Given the description of an element on the screen output the (x, y) to click on. 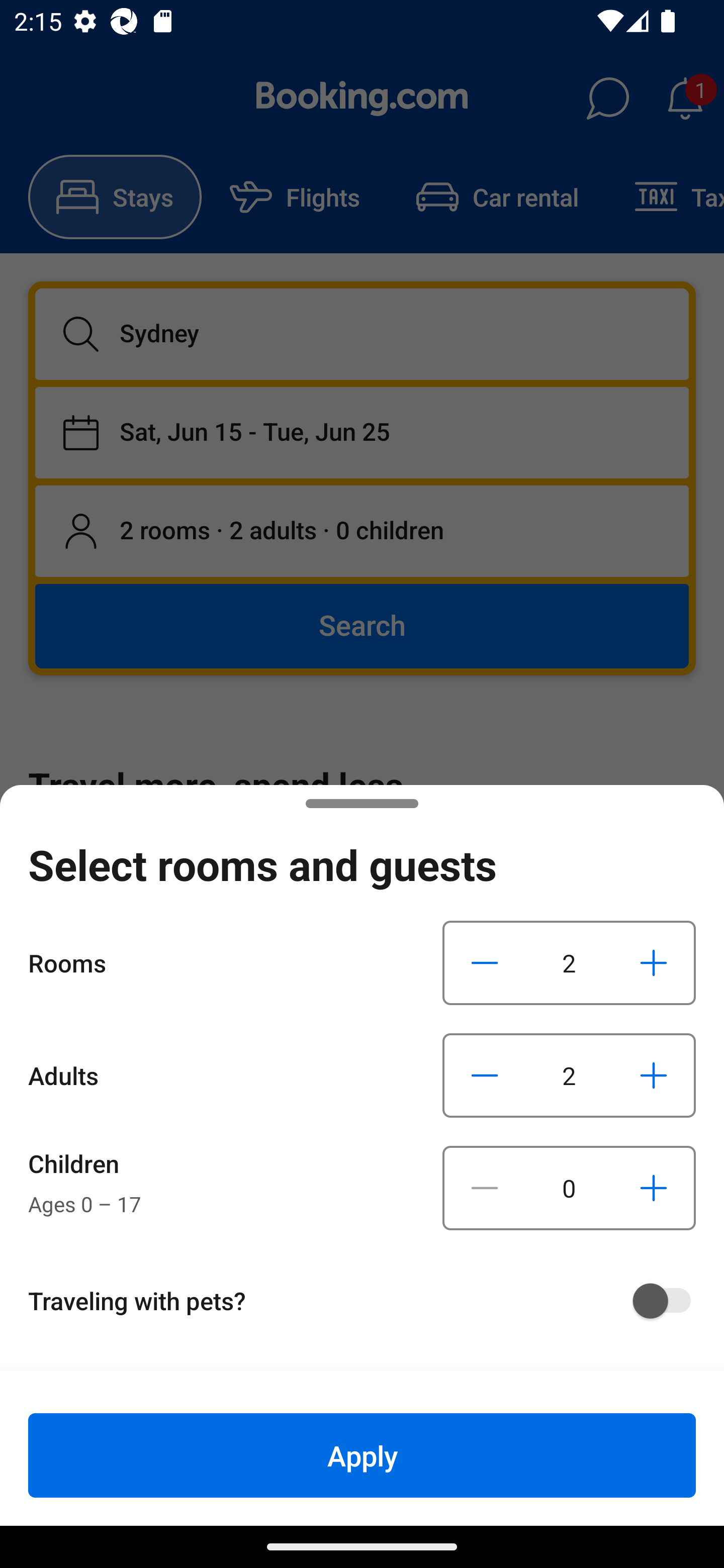
Decrease (484, 962)
Increase (653, 962)
Decrease (484, 1075)
Increase (653, 1075)
Decrease (484, 1188)
Increase (653, 1188)
Traveling with pets? (369, 1300)
Apply (361, 1454)
